Given the description of an element on the screen output the (x, y) to click on. 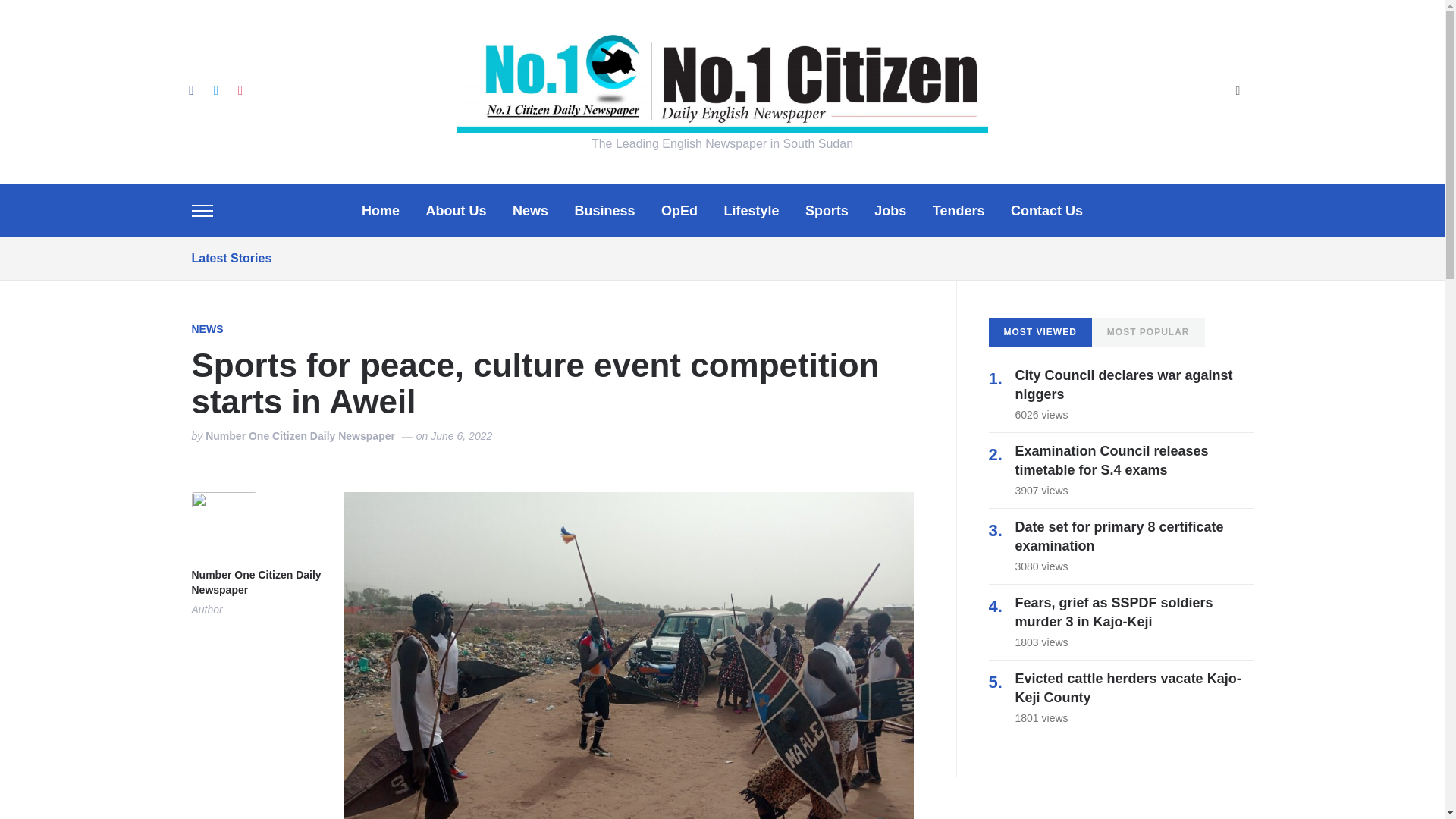
twitter (216, 88)
Home (379, 210)
instagram (239, 88)
facebook (190, 88)
Posts by Number One Citizen Daily Newspaper (255, 583)
Search (1237, 91)
Follow Me (216, 88)
Friend me on Facebook (190, 88)
Posts by Number One Citizen Daily Newspaper (299, 436)
